Given the description of an element on the screen output the (x, y) to click on. 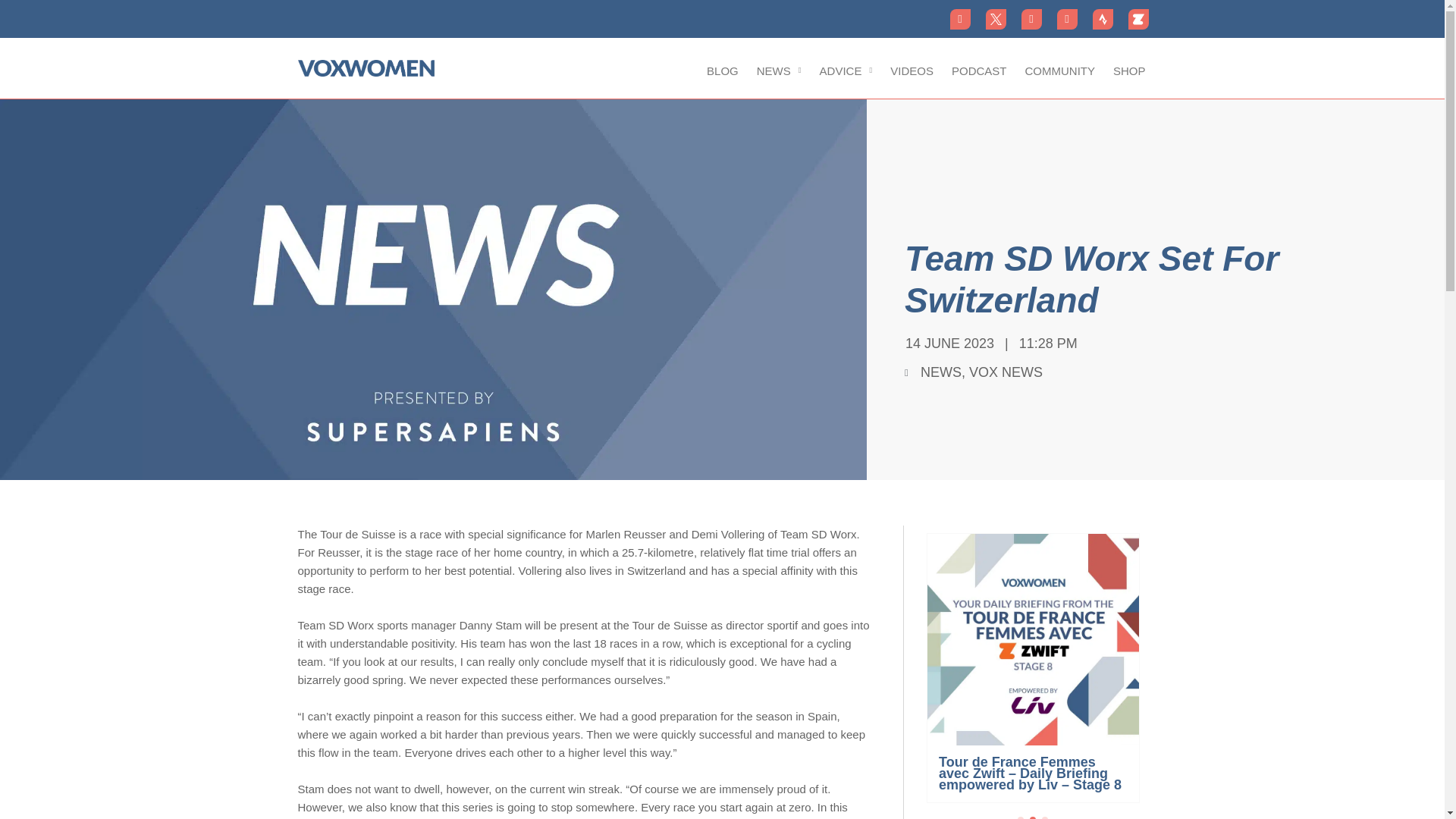
14 JUNE 2023 (946, 343)
NEWS (940, 372)
BLOG (722, 70)
VOX NEWS (1005, 372)
PODCAST (979, 70)
COMMUNITY (1058, 70)
VIDEOS (911, 70)
ADVICE (846, 70)
SHOP (1128, 70)
NEWS (779, 70)
